Given the description of an element on the screen output the (x, y) to click on. 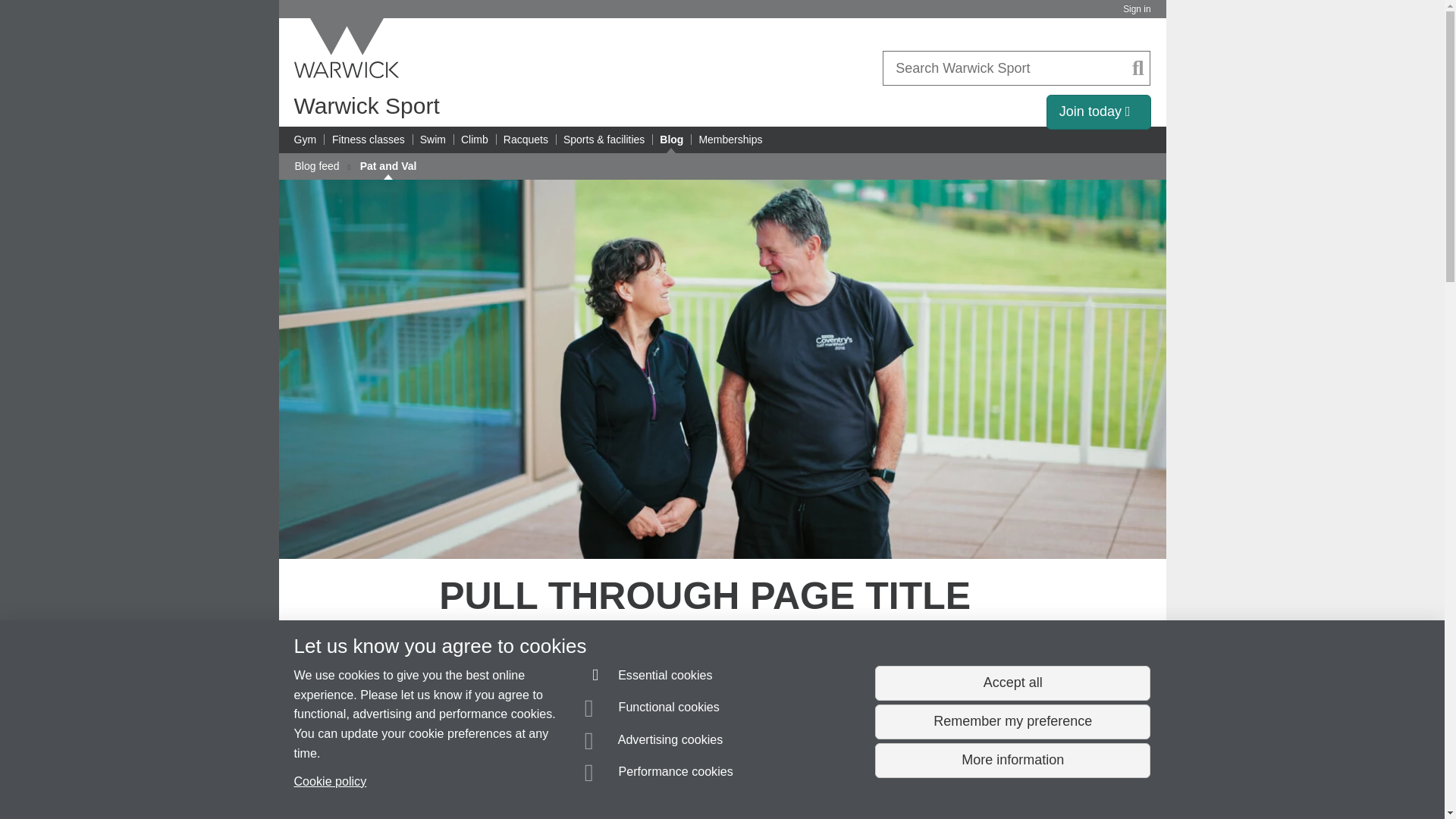
Accept all functional, advertising and performance cookies (1012, 683)
Memberships (729, 139)
Fitness classes (367, 139)
Pat and Val (387, 166)
Warwick Sport (366, 105)
Racquets (525, 139)
Climb (474, 139)
Join today (1098, 112)
Blog feed (316, 166)
Blog (670, 139)
University of Warwick homepage (346, 48)
Sign in (1136, 9)
Essential cookies are always on (649, 677)
